Given the description of an element on the screen output the (x, y) to click on. 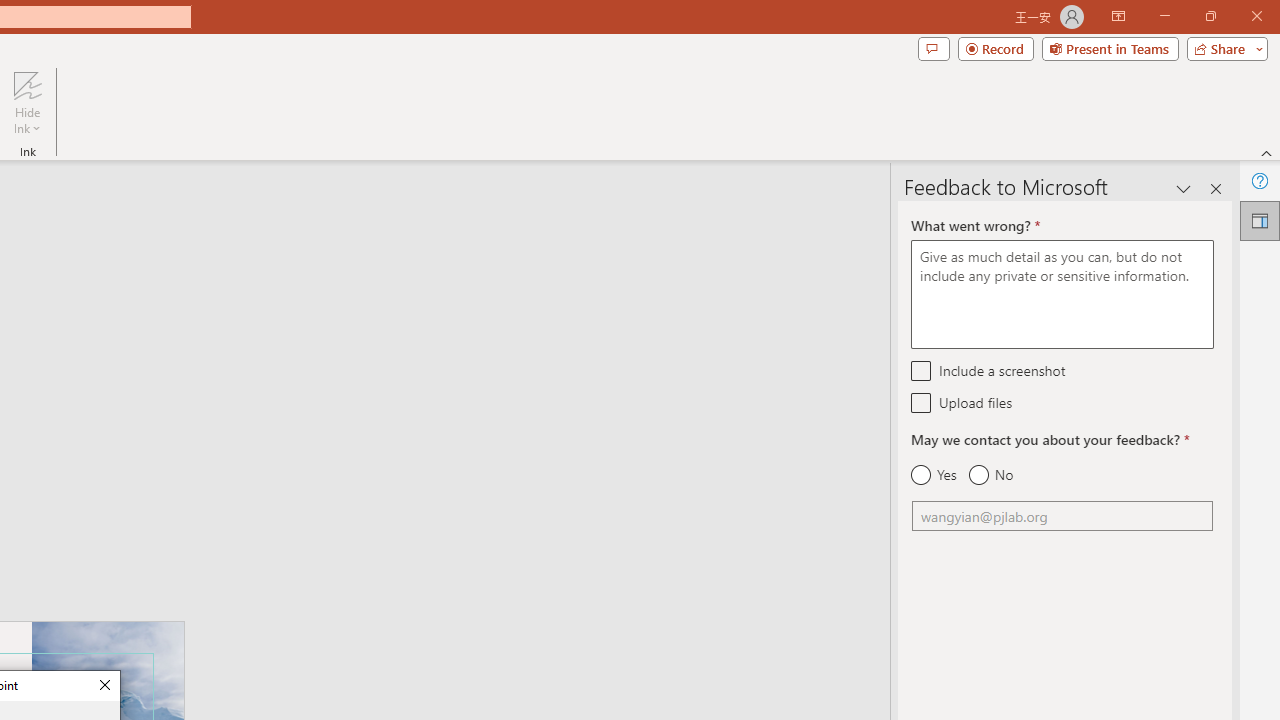
What went wrong? * (1062, 294)
Task Pane Options (1183, 188)
Close pane (1215, 188)
